Given the description of an element on the screen output the (x, y) to click on. 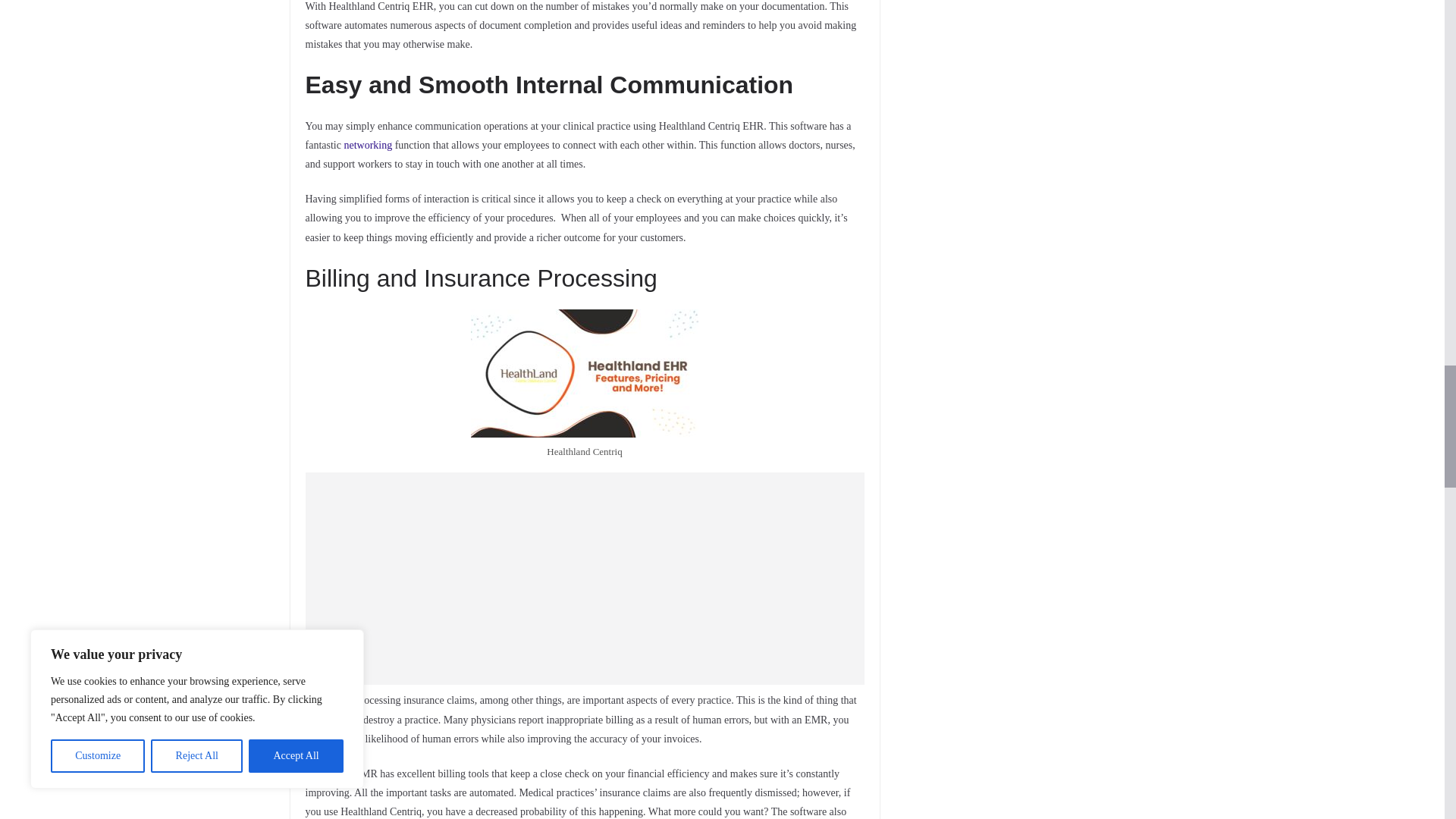
networking (367, 144)
5 Best Features of Healthland Centriq EMR Software In Tech 3 (584, 373)
Advertisement (583, 578)
